Given the description of an element on the screen output the (x, y) to click on. 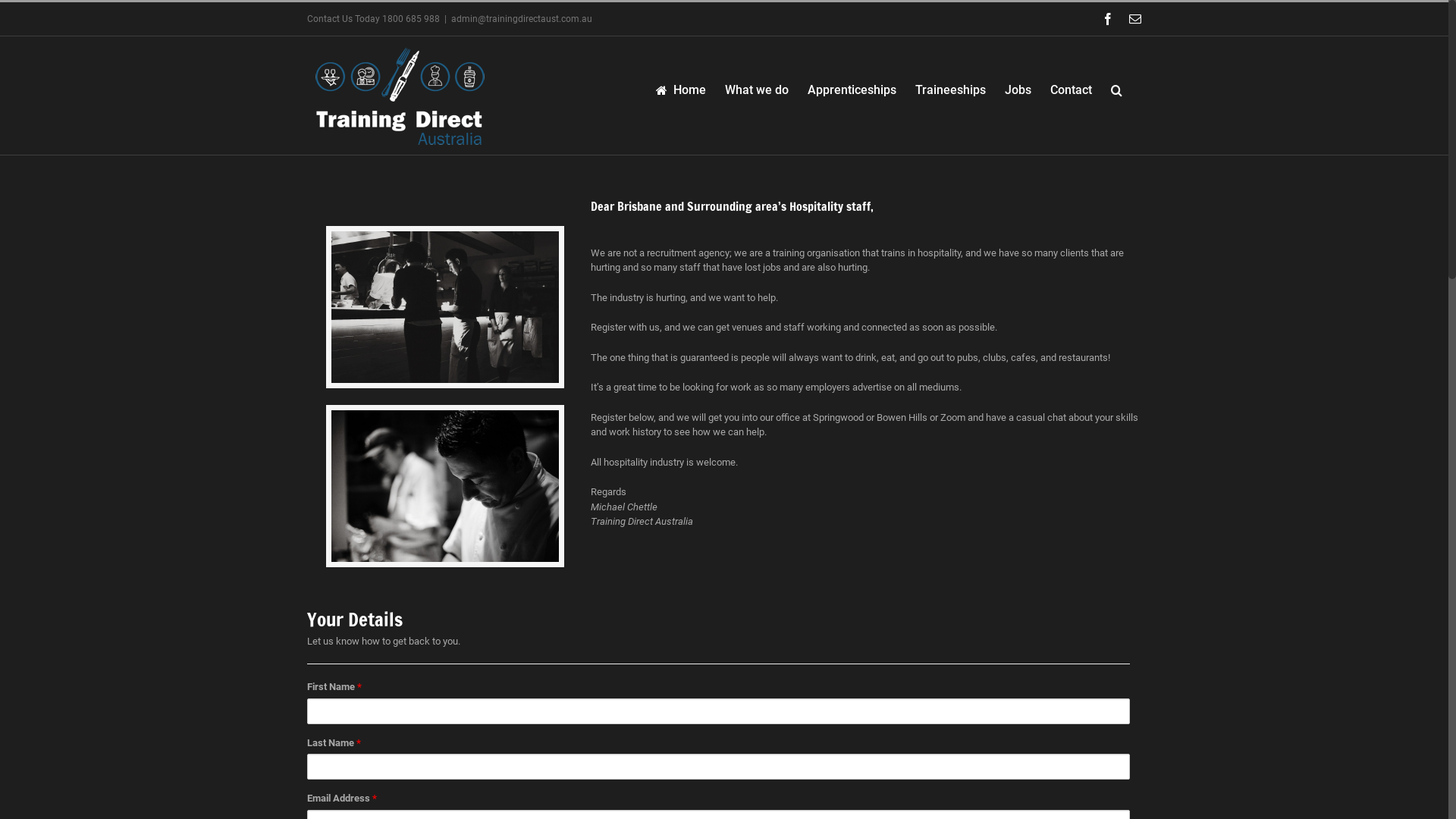
What we do Element type: text (756, 88)
WaitStaff Element type: hover (444, 306)
Chef Element type: hover (444, 485)
Home Element type: text (680, 88)
Jobs Element type: text (1017, 88)
Traineeships Element type: text (950, 88)
Facebook Element type: text (1107, 18)
Search Element type: hover (1116, 88)
Contact Element type: text (1071, 88)
Apprenticeships Element type: text (851, 88)
Email Element type: text (1135, 18)
admin@trainingdirectaust.com.au Element type: text (521, 18)
